Given the description of an element on the screen output the (x, y) to click on. 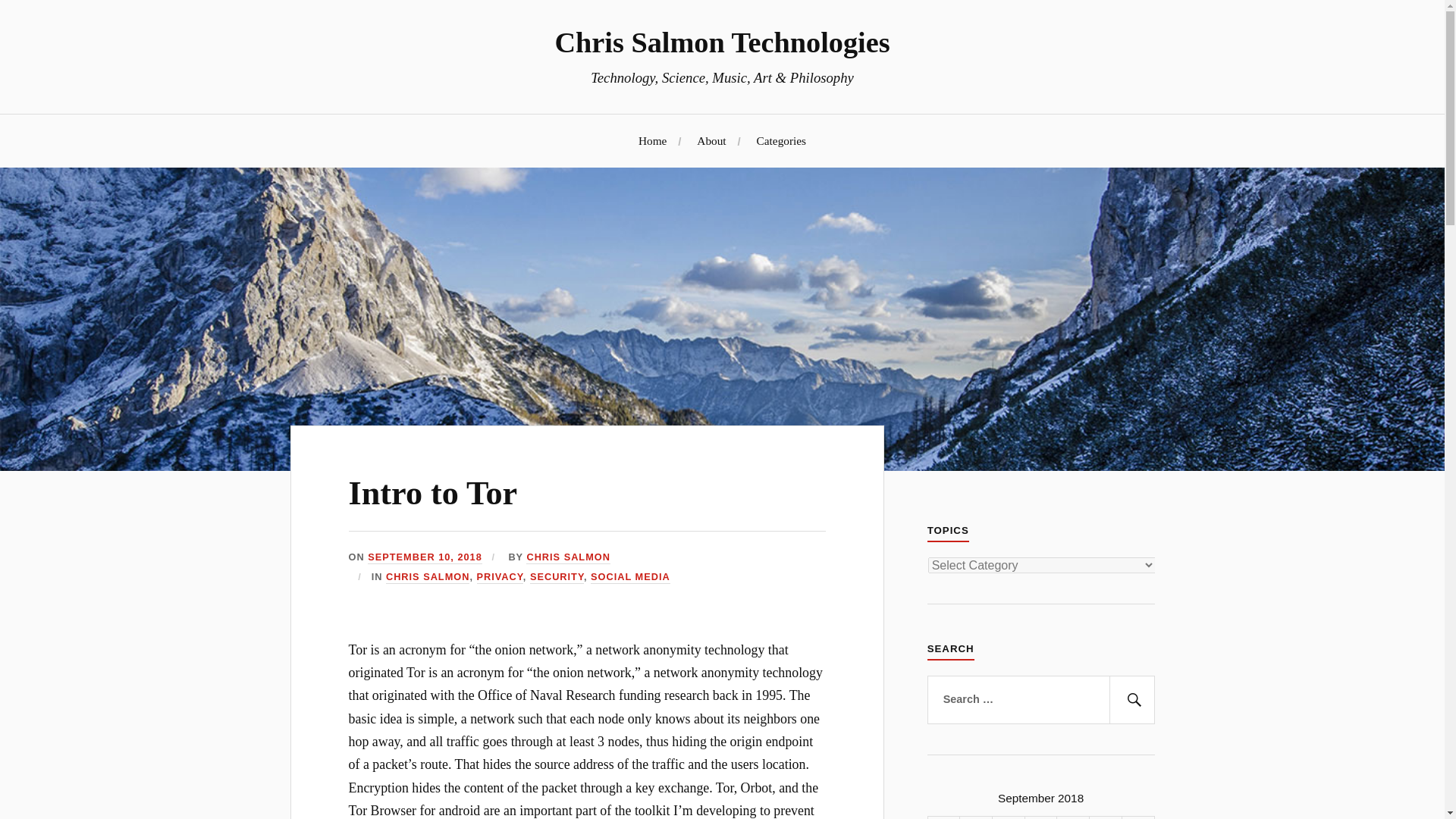
Monday (943, 817)
PRIVACY (499, 576)
Thursday (1041, 817)
Friday (1073, 817)
CHRIS SALMON (567, 557)
Categories (781, 140)
SEPTEMBER 10, 2018 (424, 557)
Search for: (1040, 699)
Chris Salmon Technologies (721, 42)
Search (1131, 699)
CHRIS SALMON (426, 576)
SECURITY (556, 576)
Wednesday (1008, 817)
Tuesday (975, 817)
SOCIAL MEDIA (630, 576)
